Given the description of an element on the screen output the (x, y) to click on. 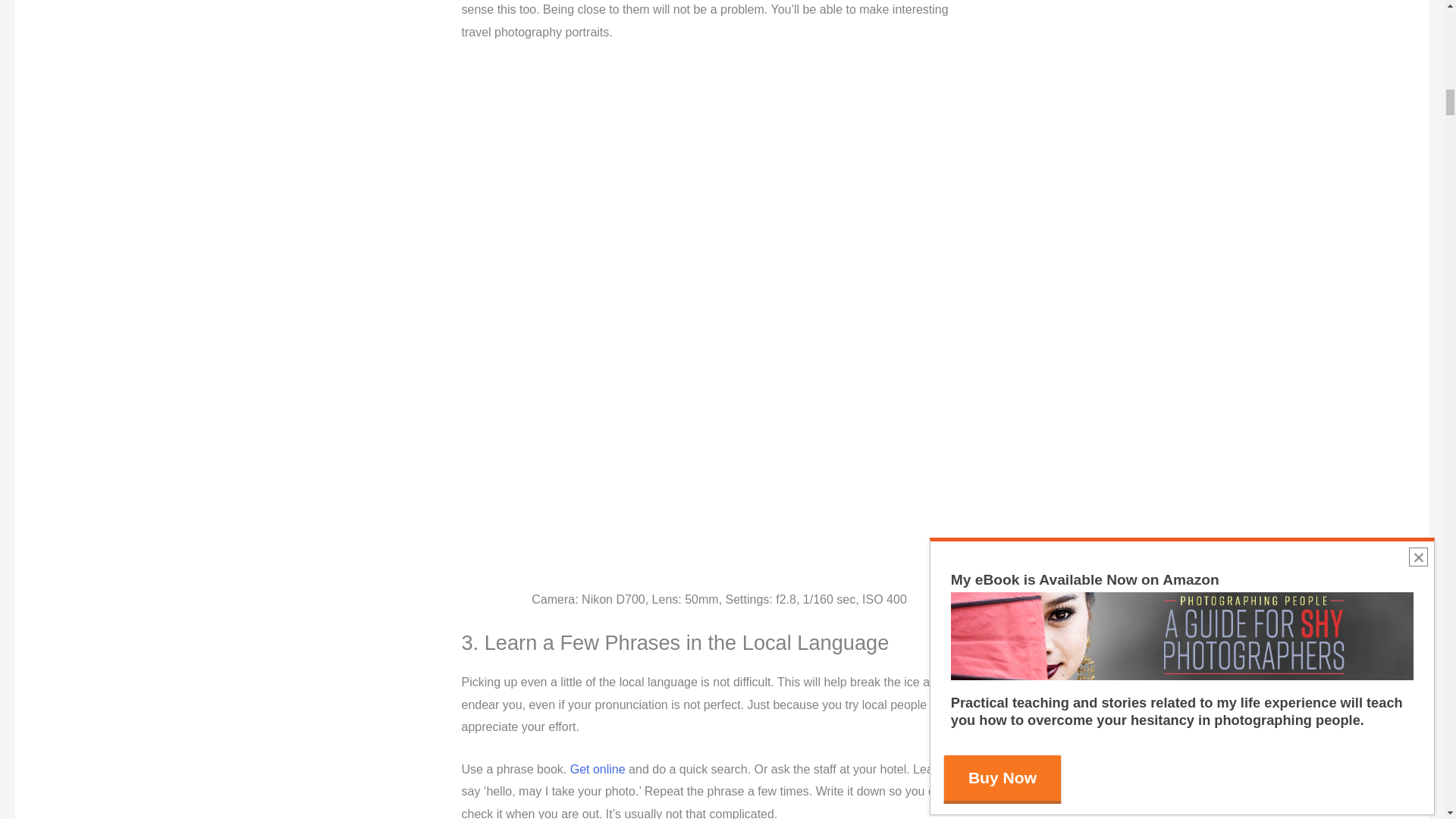
Get online (595, 768)
